Given the description of an element on the screen output the (x, y) to click on. 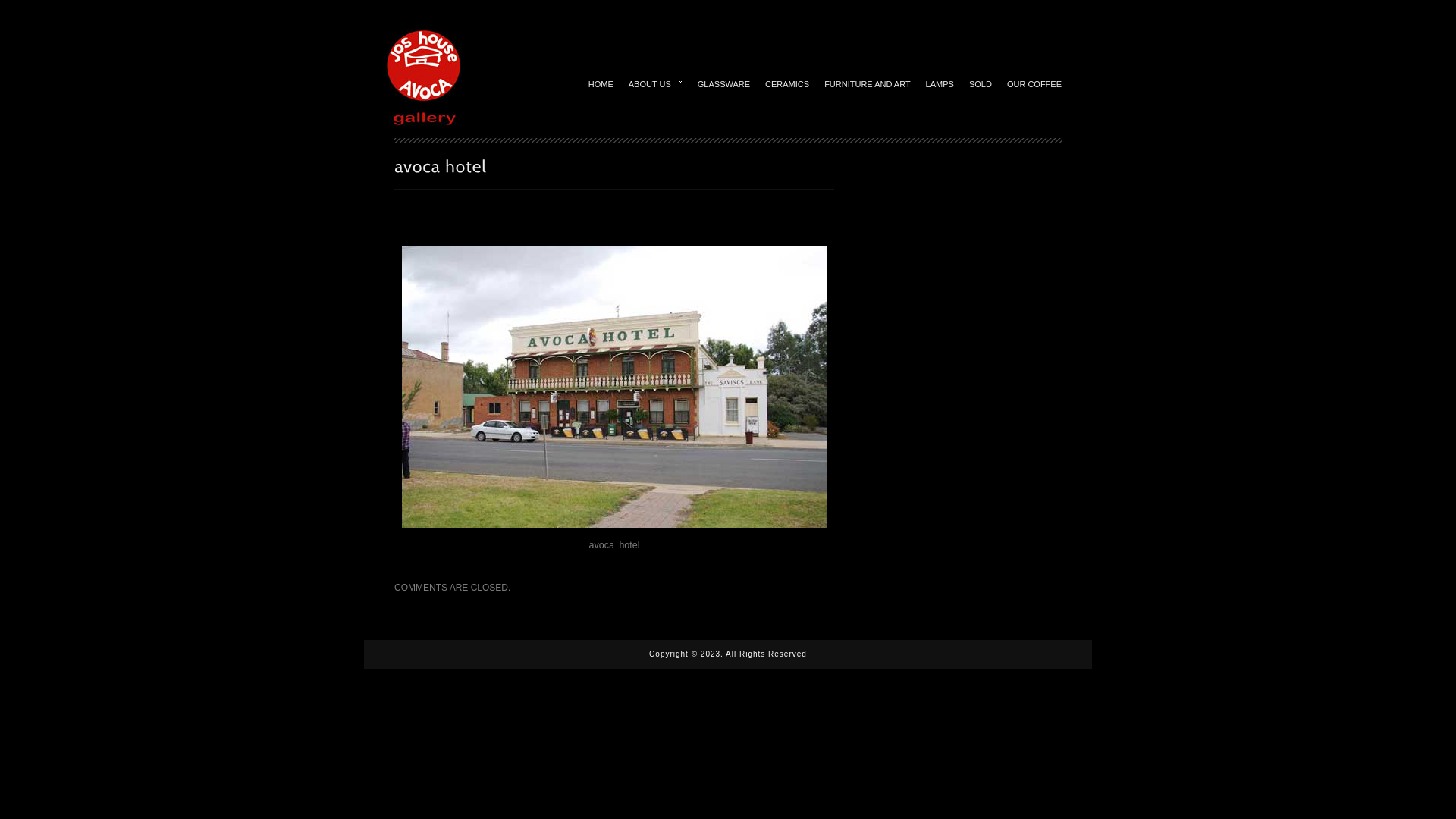
GLASSWARE Element type: text (723, 82)
HOME Element type: text (600, 82)
LAMPS Element type: text (939, 82)
FURNITURE AND ART Element type: text (866, 82)
SOLD Element type: text (980, 82)
the local watering hole Element type: hover (613, 386)
OUR COFFEE Element type: text (1034, 82)
CERAMICS Element type: text (786, 82)
